Given the description of an element on the screen output the (x, y) to click on. 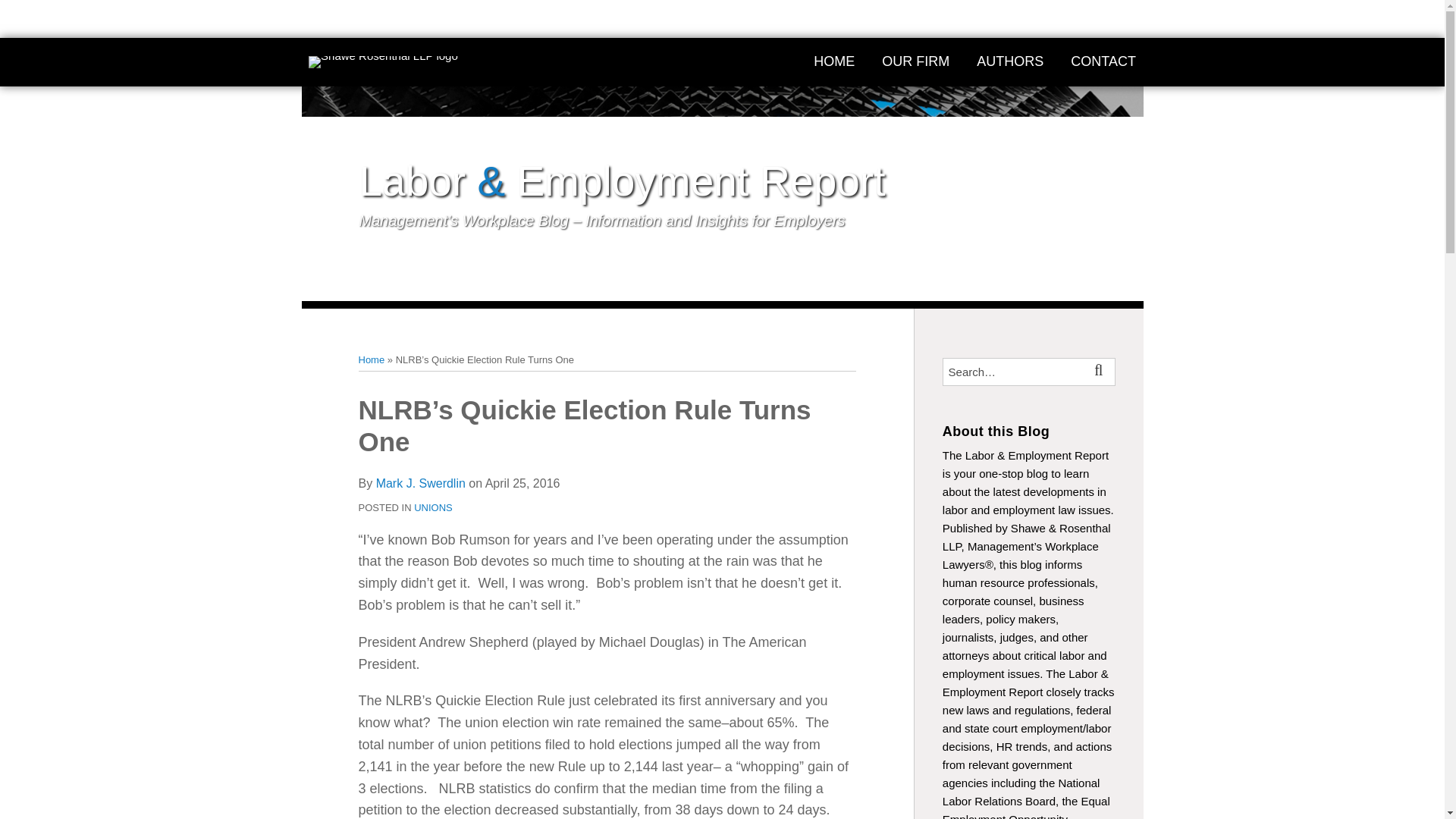
Mark J. Swerdlin (420, 482)
UNIONS (432, 507)
HOME (833, 61)
AUTHORS (1009, 61)
SEARCH (1101, 371)
Home (371, 359)
CONTACT (1102, 61)
OUR FIRM (915, 61)
